Given the description of an element on the screen output the (x, y) to click on. 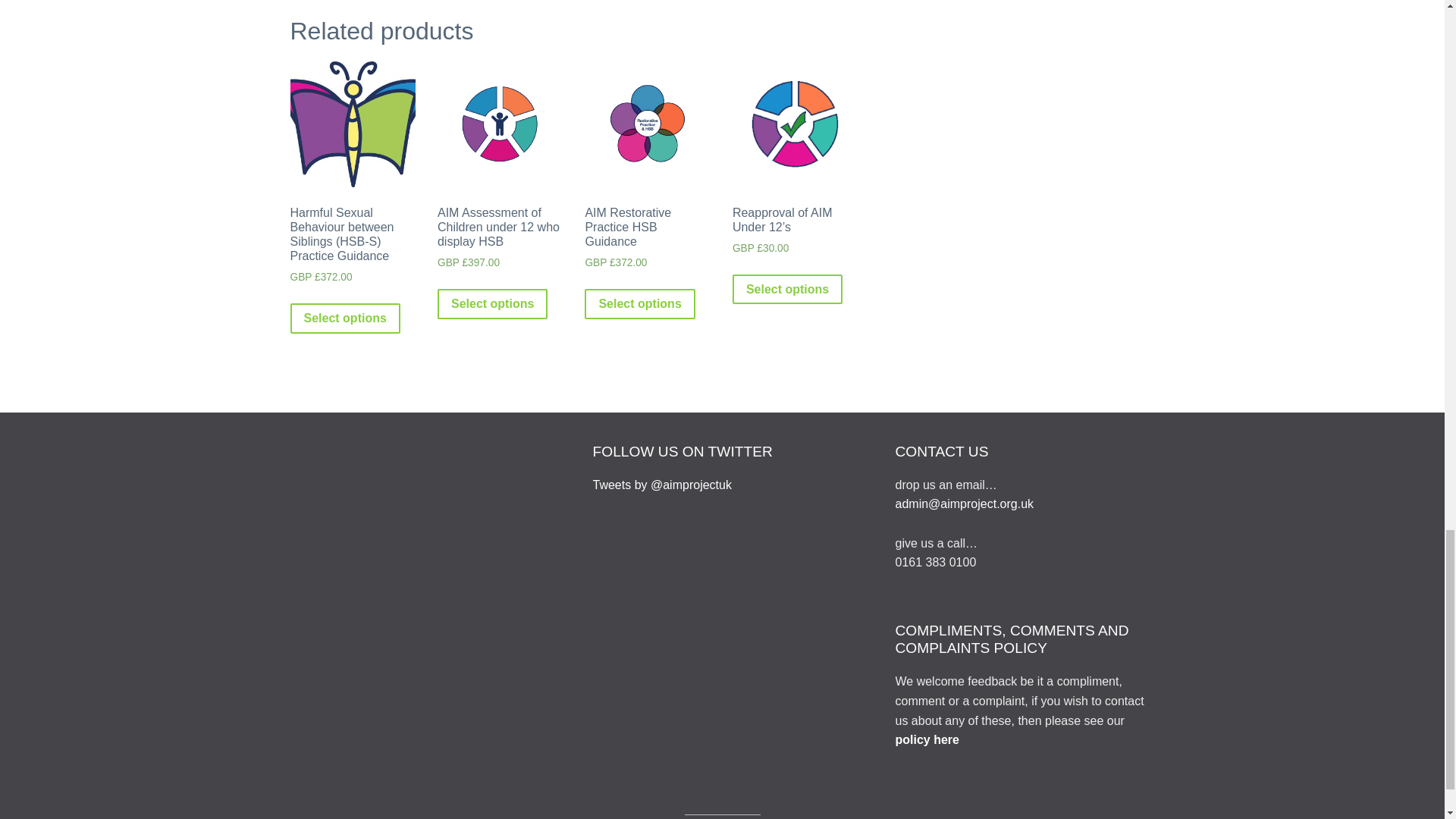
Select options (639, 304)
Select options (492, 304)
Select options (343, 318)
